Given the description of an element on the screen output the (x, y) to click on. 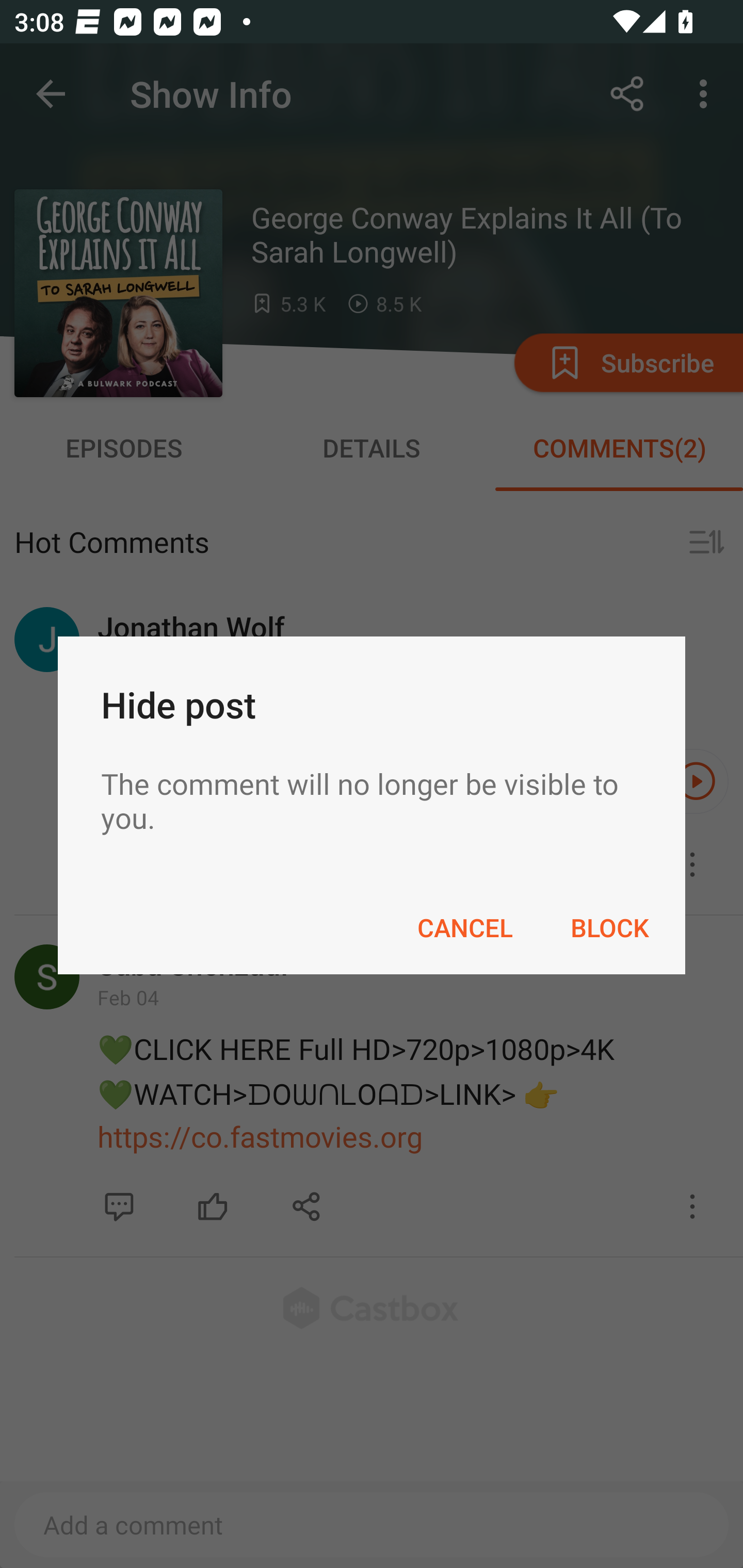
CANCEL (463, 927)
BLOCK (608, 927)
